Given the description of an element on the screen output the (x, y) to click on. 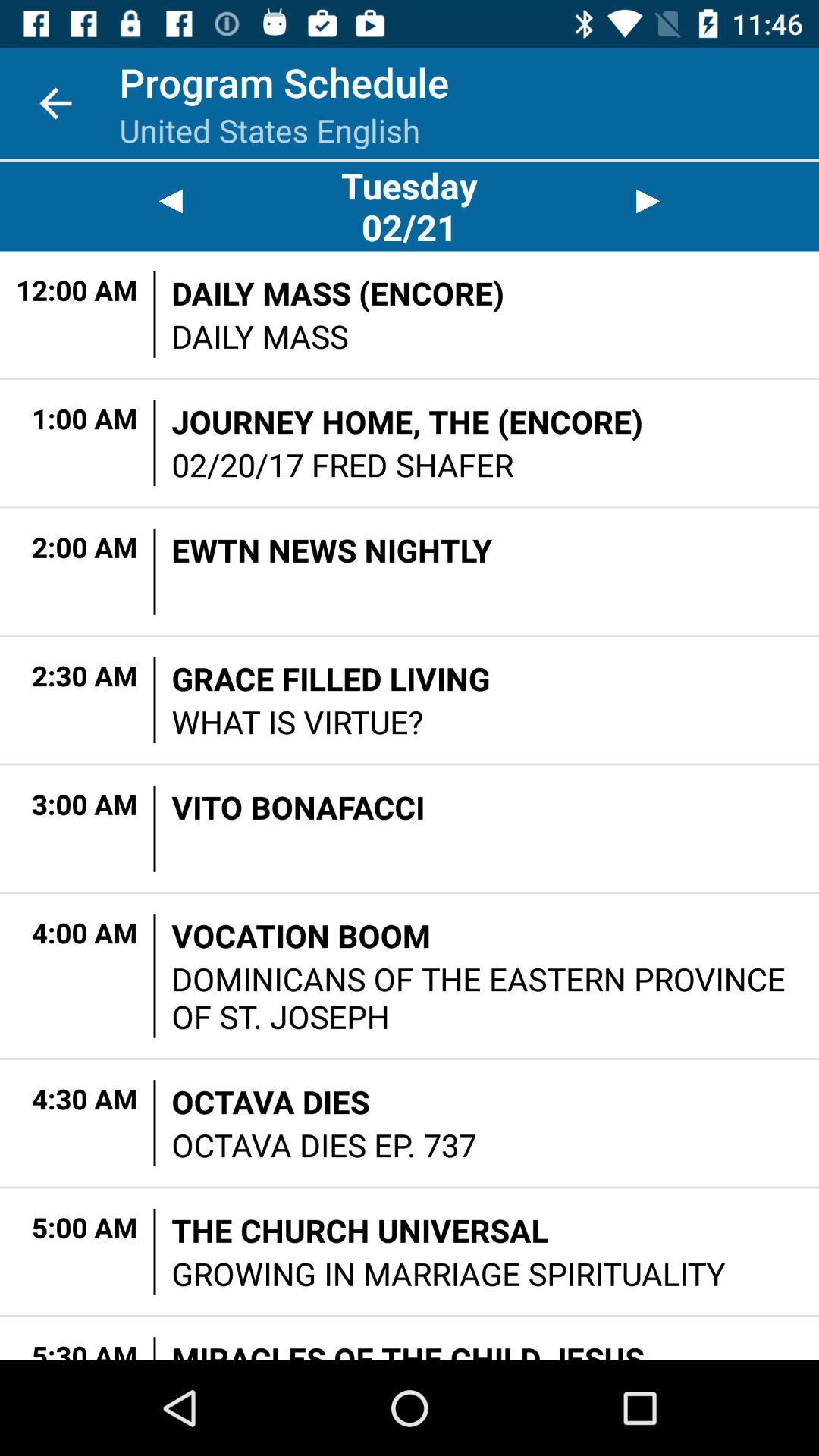
choose ewtn news nightly item (331, 549)
